Given the description of an element on the screen output the (x, y) to click on. 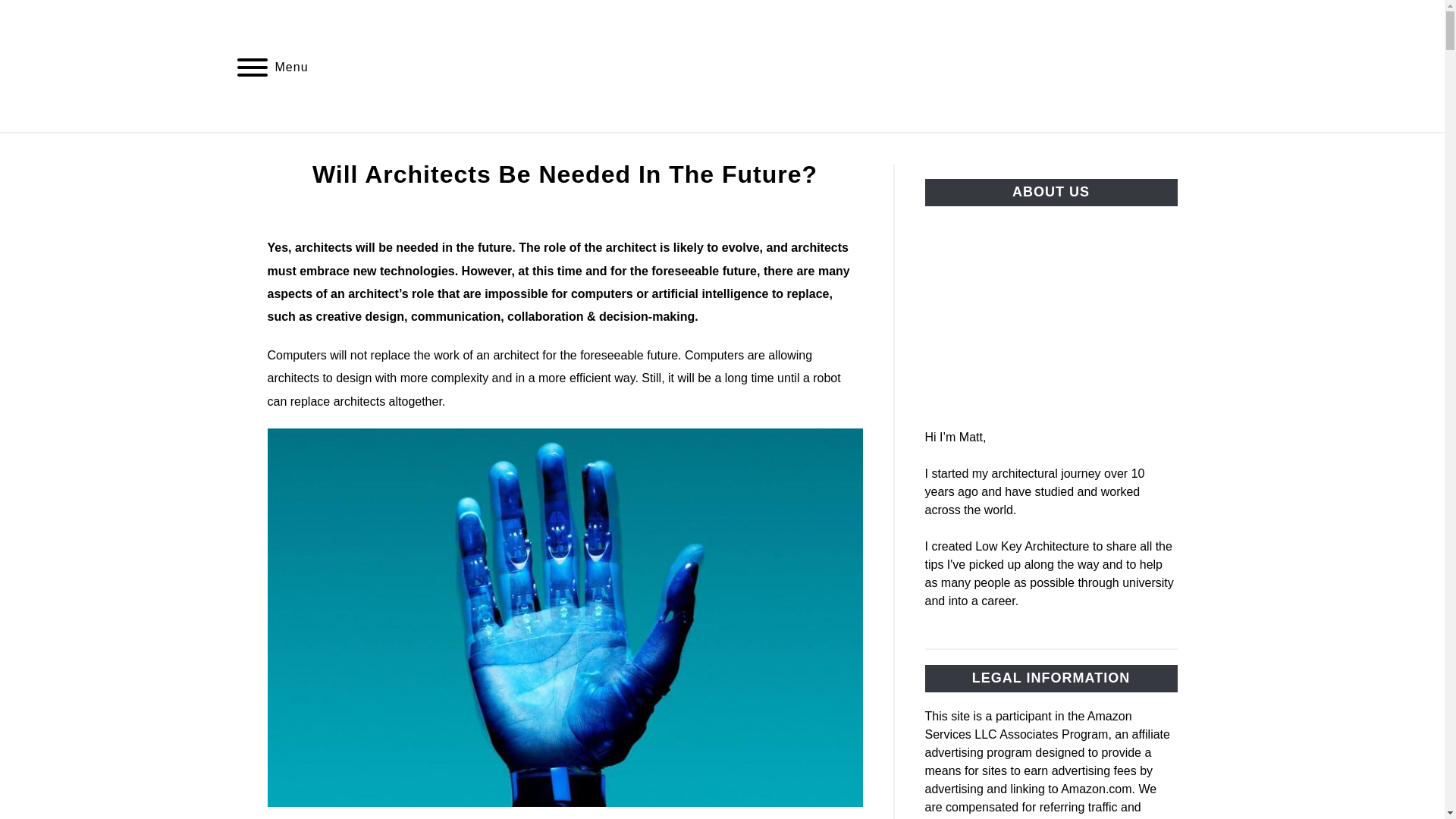
Menu (251, 70)
BLOG (708, 150)
HOME (638, 150)
Search (1203, 65)
ABOUT US (792, 150)
